Given the description of an element on the screen output the (x, y) to click on. 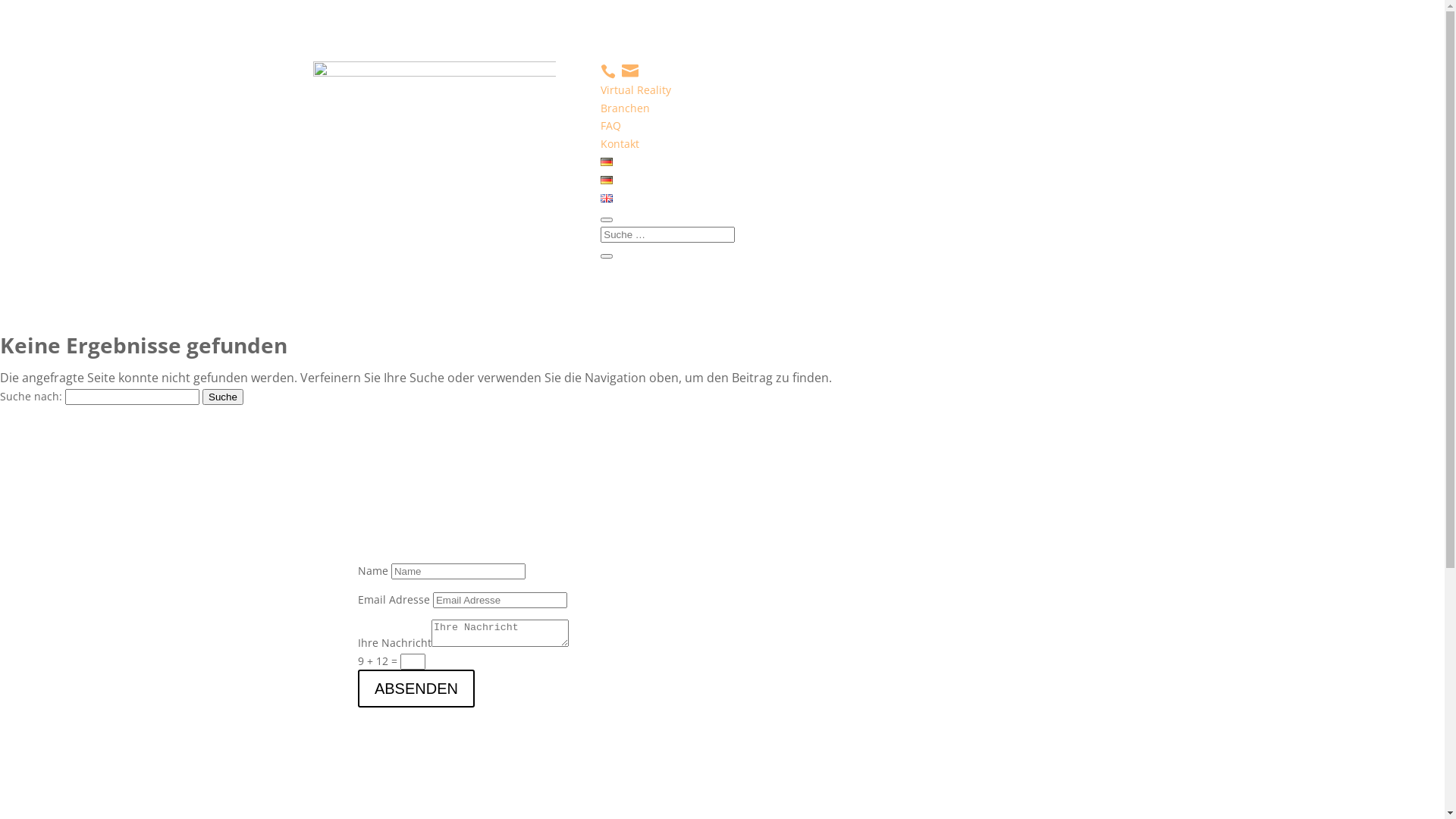
Suche Element type: text (222, 396)
Kontakt Element type: text (619, 143)
Virtual Reality Element type: text (635, 89)
Suchen nach: Element type: hover (667, 234)
StepInside_logo_subline Element type: hover (433, 93)
Branchen Element type: text (624, 107)
FAQ Element type: text (610, 125)
ABSENDEN Element type: text (415, 688)
